Given the description of an element on the screen output the (x, y) to click on. 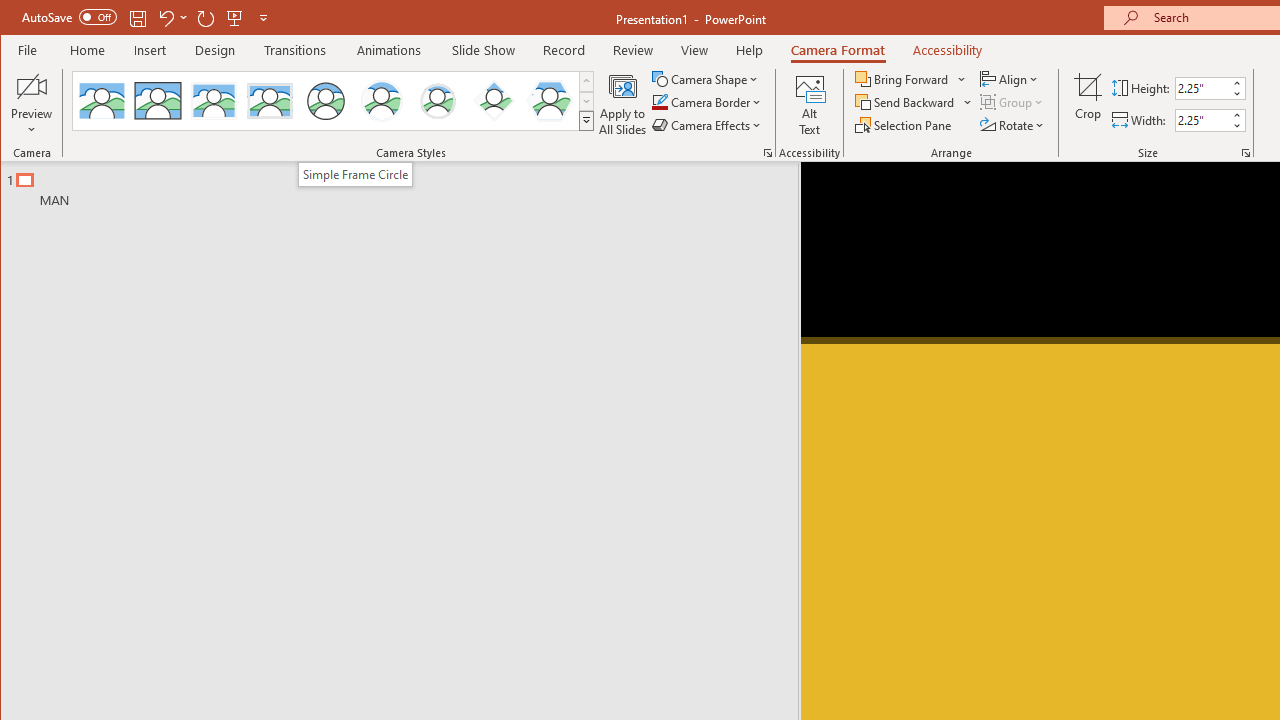
Outline (408, 185)
Alt Text (809, 104)
Simple Frame Rectangle (157, 100)
Camera Border Blue, Accent 1 (659, 101)
